Given the description of an element on the screen output the (x, y) to click on. 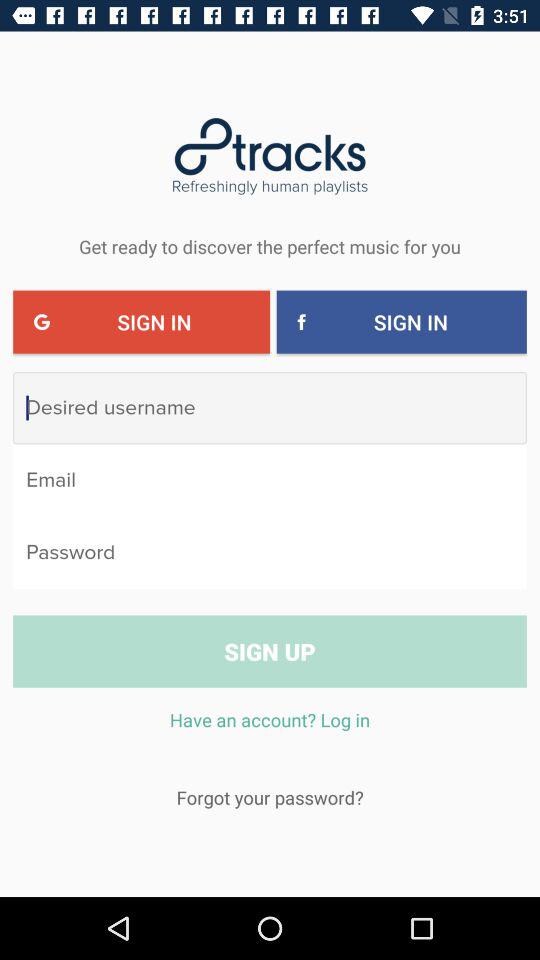
turn on the have an account item (269, 729)
